Given the description of an element on the screen output the (x, y) to click on. 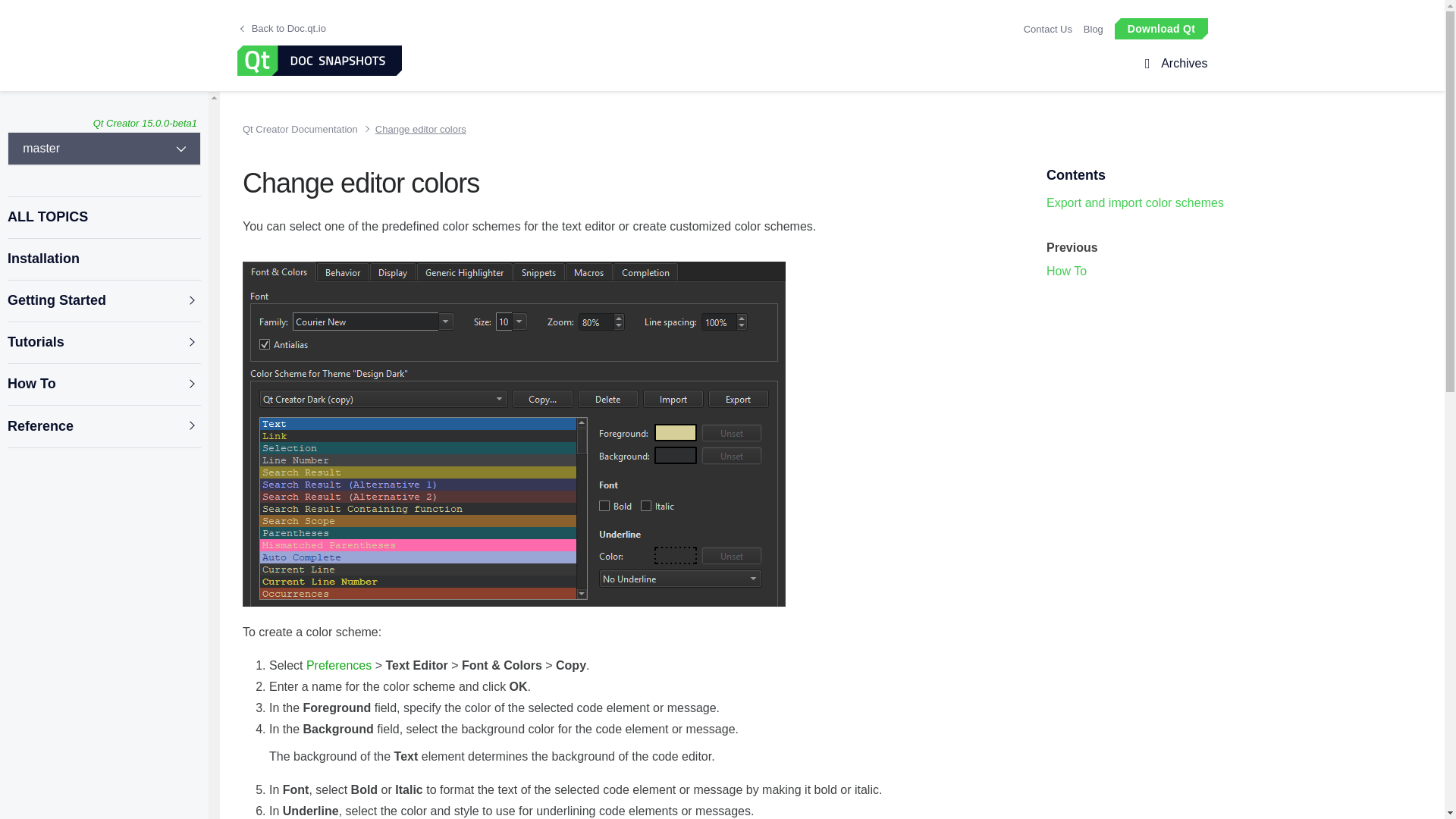
Back to Doc.qt.io (282, 28)
Qt Creator 15.0.0-beta1 (144, 122)
ALL TOPICS (103, 217)
Contact Us (1047, 28)
Download Qt (1160, 27)
Blog (1093, 28)
Archives (1181, 63)
Tutorials (103, 342)
Getting Started (103, 300)
Installation (103, 258)
How To (103, 384)
